Given the description of an element on the screen output the (x, y) to click on. 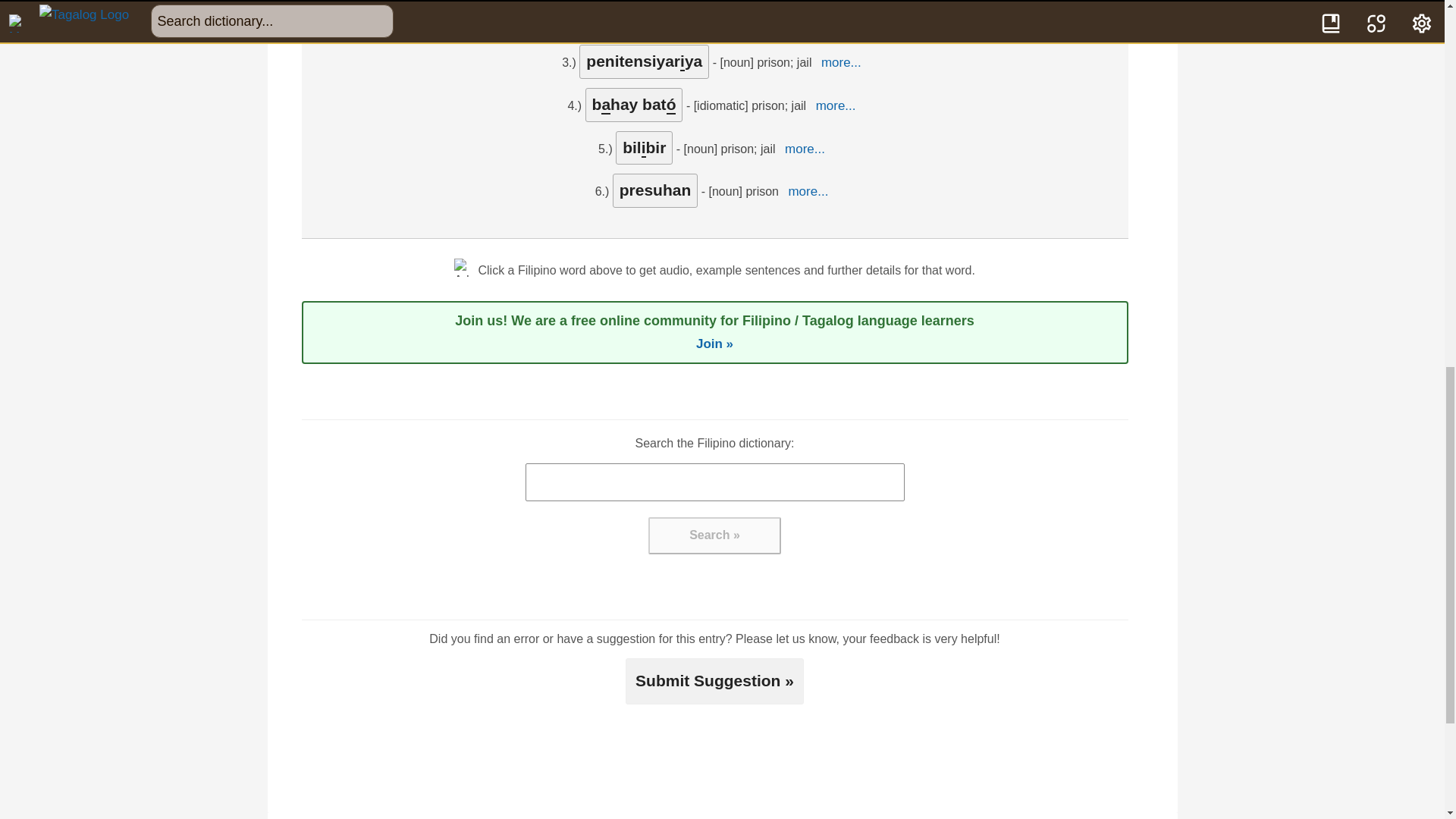
4 example sentences available (782, 15)
